Given the description of an element on the screen output the (x, y) to click on. 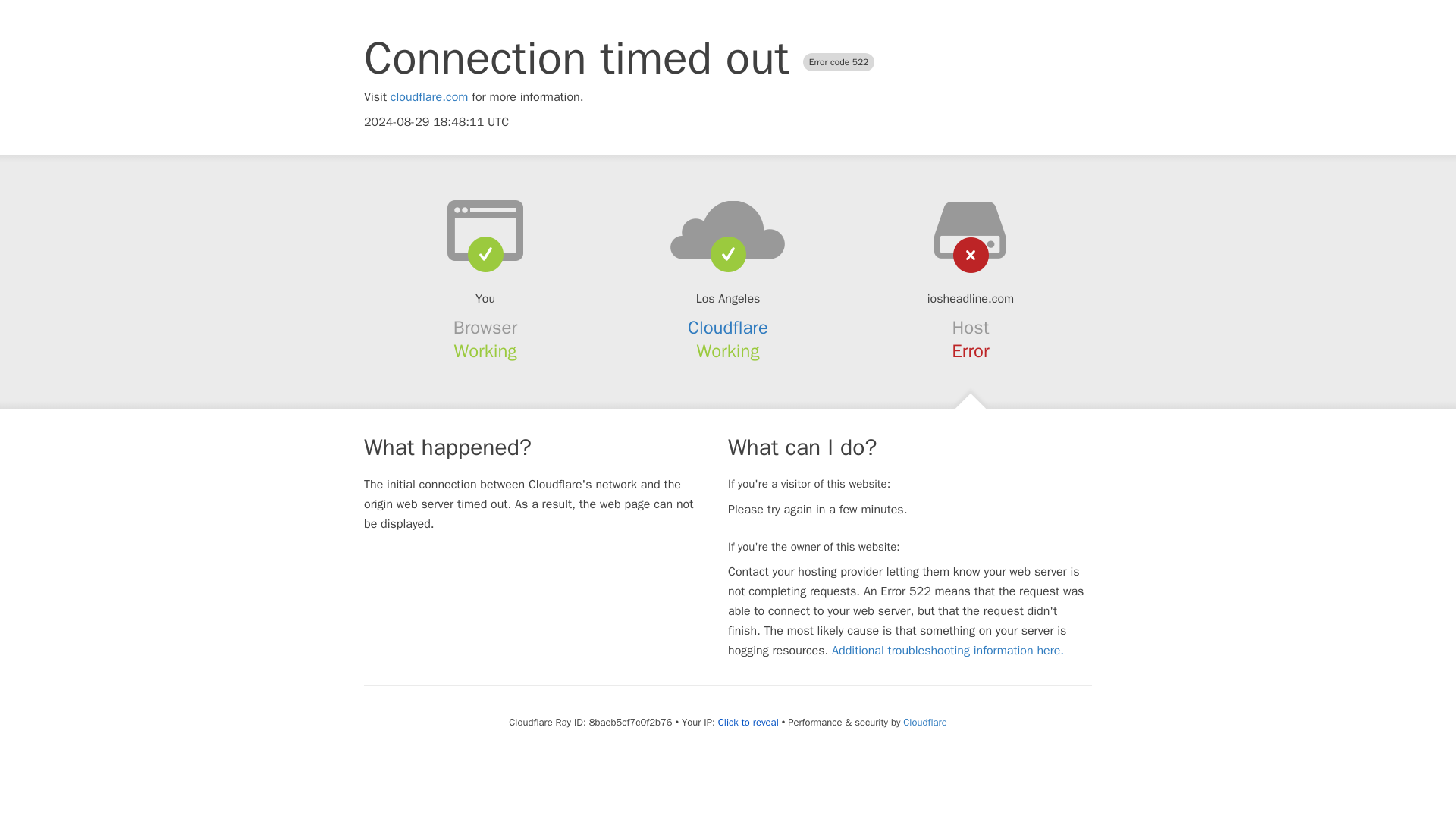
Click to reveal (747, 722)
Cloudflare (924, 721)
Additional troubleshooting information here. (947, 650)
Cloudflare (727, 327)
cloudflare.com (429, 96)
